Given the description of an element on the screen output the (x, y) to click on. 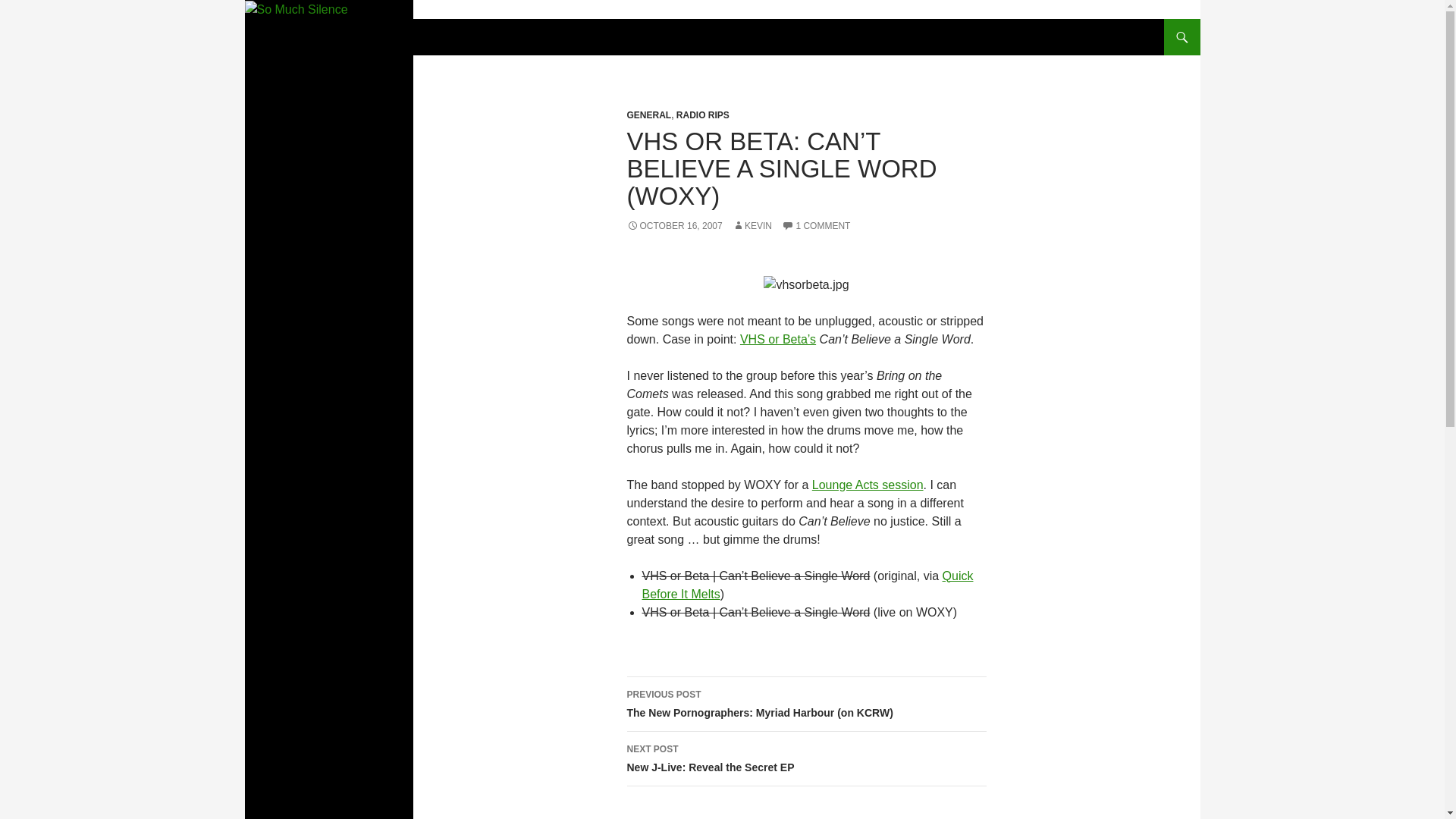
KEVIN (751, 225)
OCTOBER 16, 2007 (805, 758)
Search (674, 225)
1 COMMENT (703, 114)
So Much Silence (815, 225)
Lounge Acts session (320, 36)
Quick Before It Melts (867, 483)
SKIP TO CONTENT (807, 583)
